Given the description of an element on the screen output the (x, y) to click on. 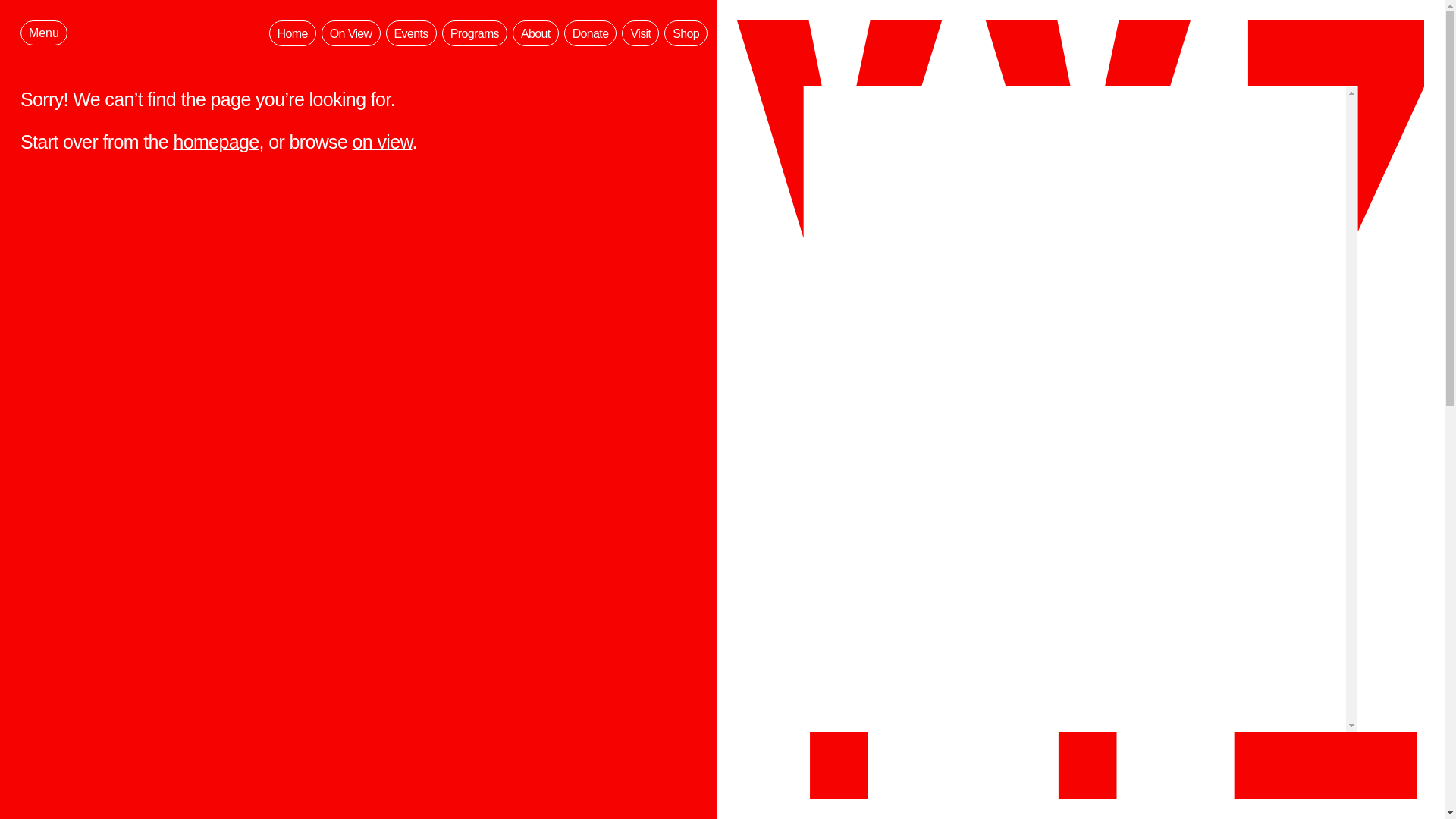
homepage (216, 142)
Shop (685, 32)
Donate (590, 32)
Home (292, 32)
Menu (43, 32)
Visit (640, 32)
About (535, 32)
Programs (474, 32)
on view (382, 142)
Events (410, 32)
